Given the description of an element on the screen output the (x, y) to click on. 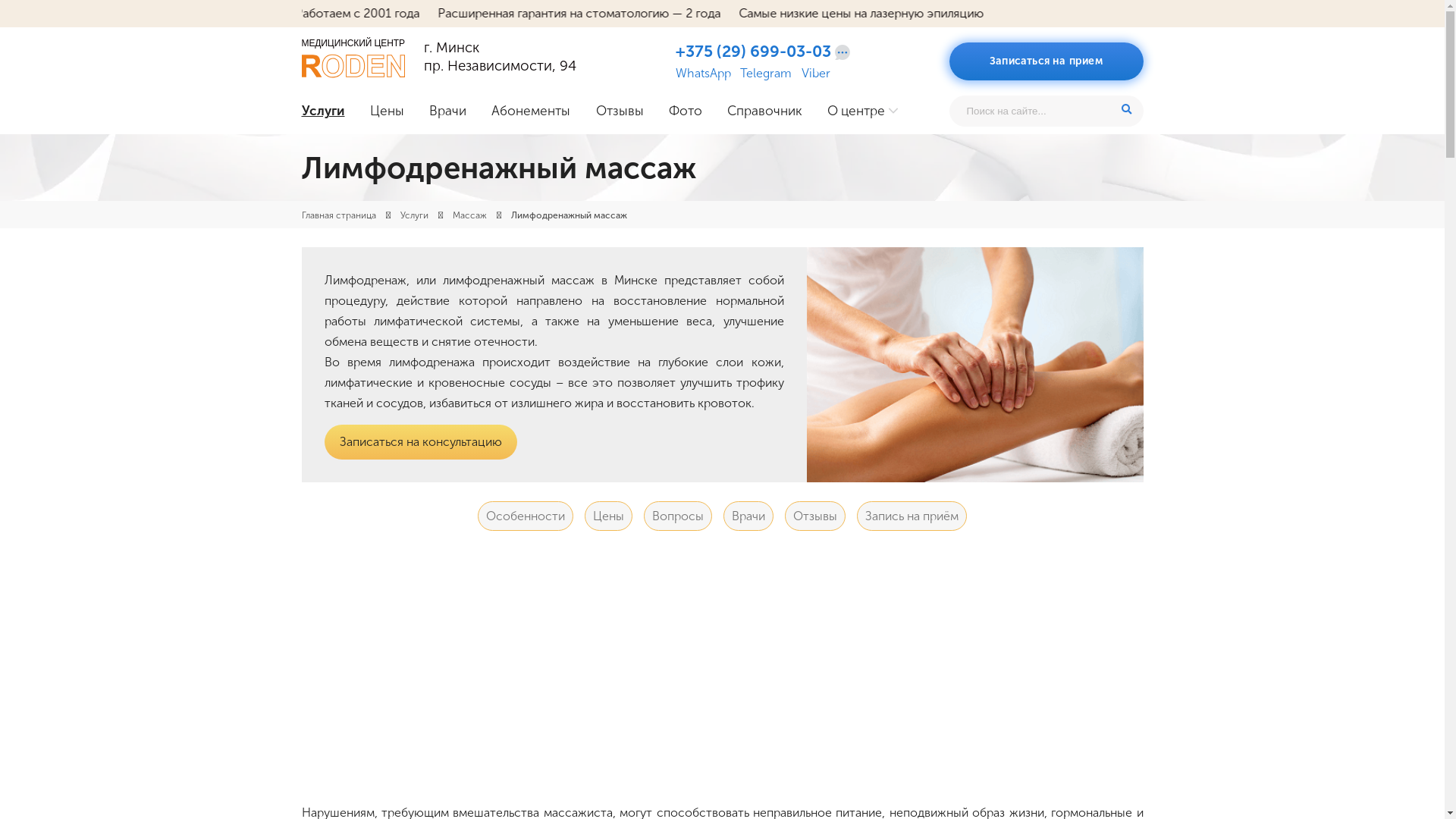
Telegram Element type: text (765, 73)
WhatsApp Element type: text (703, 73)
Viber Element type: text (815, 73)
+375 (29) 699-03-03 Element type: text (753, 51)
